Given the description of an element on the screen output the (x, y) to click on. 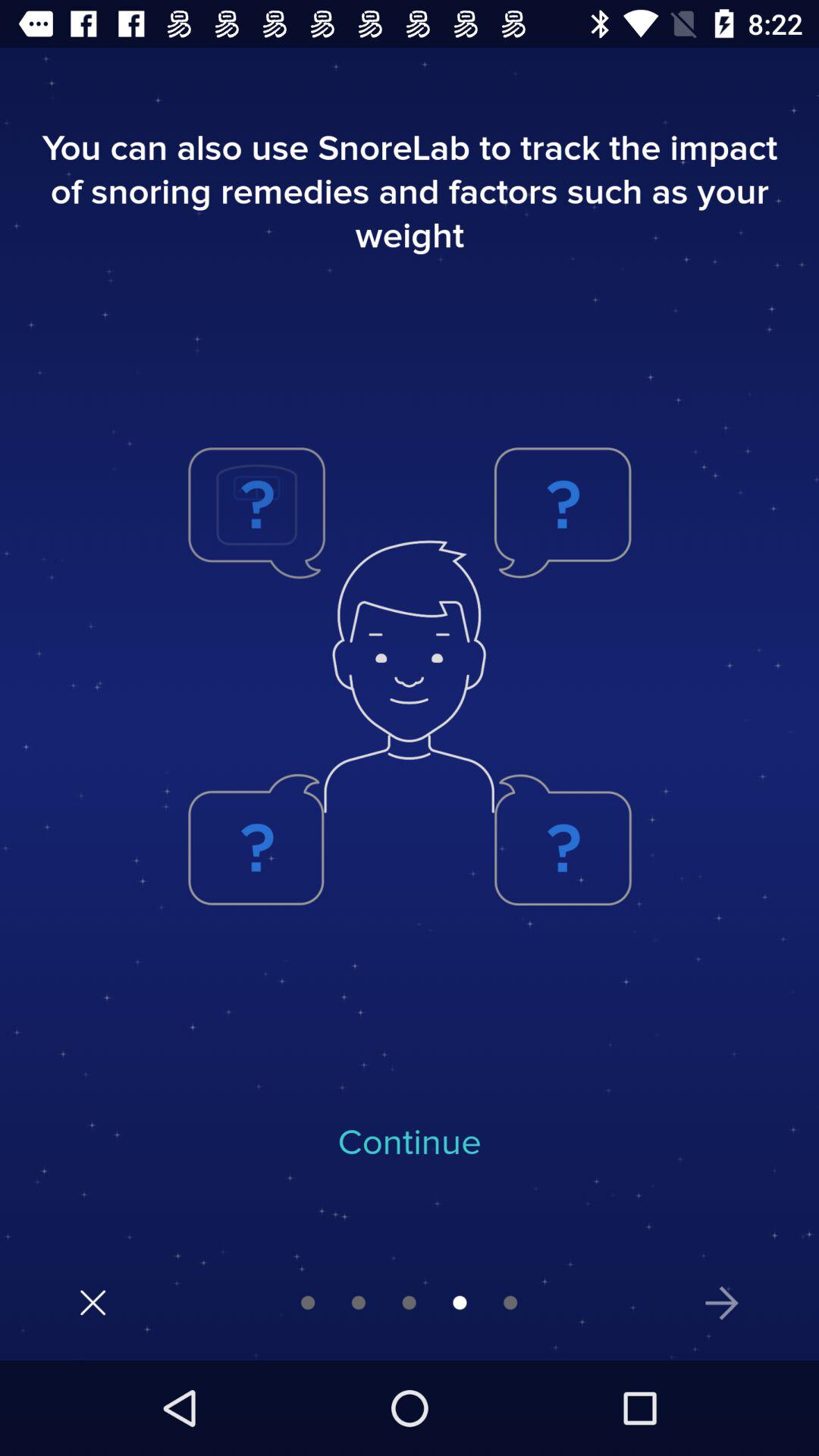
show next tip (721, 1302)
